Given the description of an element on the screen output the (x, y) to click on. 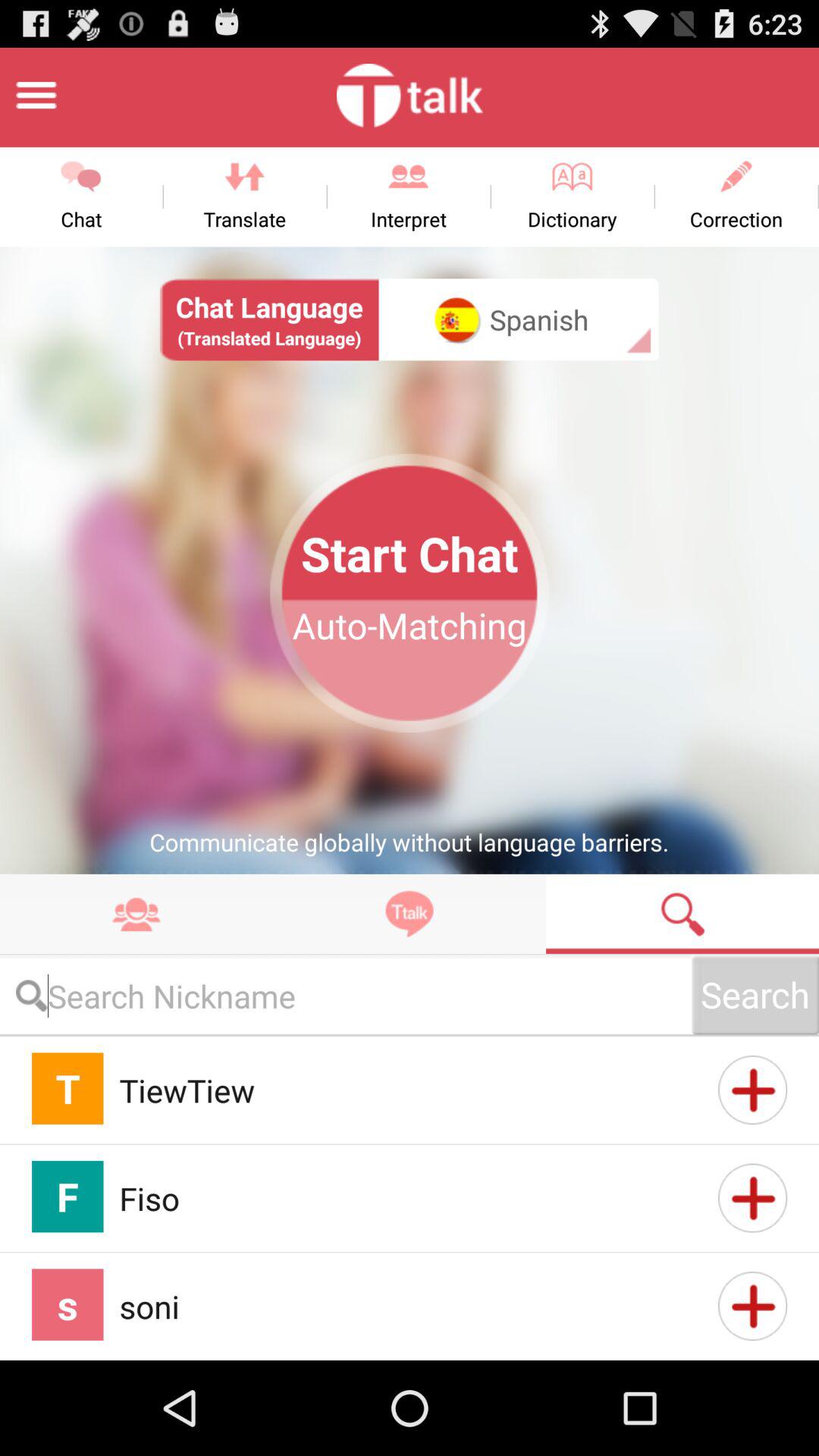
fill in the comment box (345, 995)
